Given the description of an element on the screen output the (x, y) to click on. 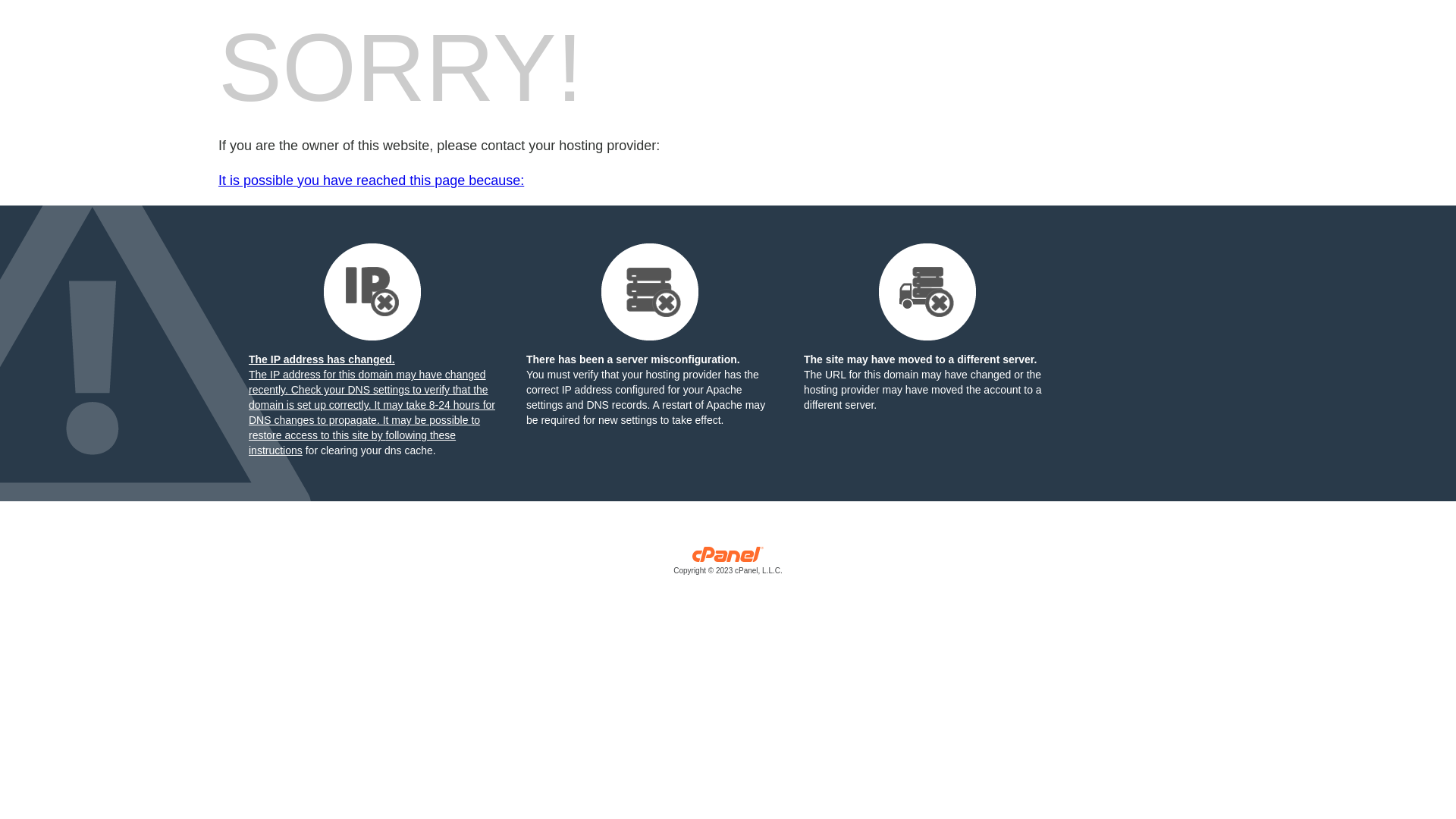
following these instructions Element type: text (351, 442)
It is possible you have reached this page because: Element type: text (727, 181)
The IP address has changed. Element type: text (371, 301)
